Given the description of an element on the screen output the (x, y) to click on. 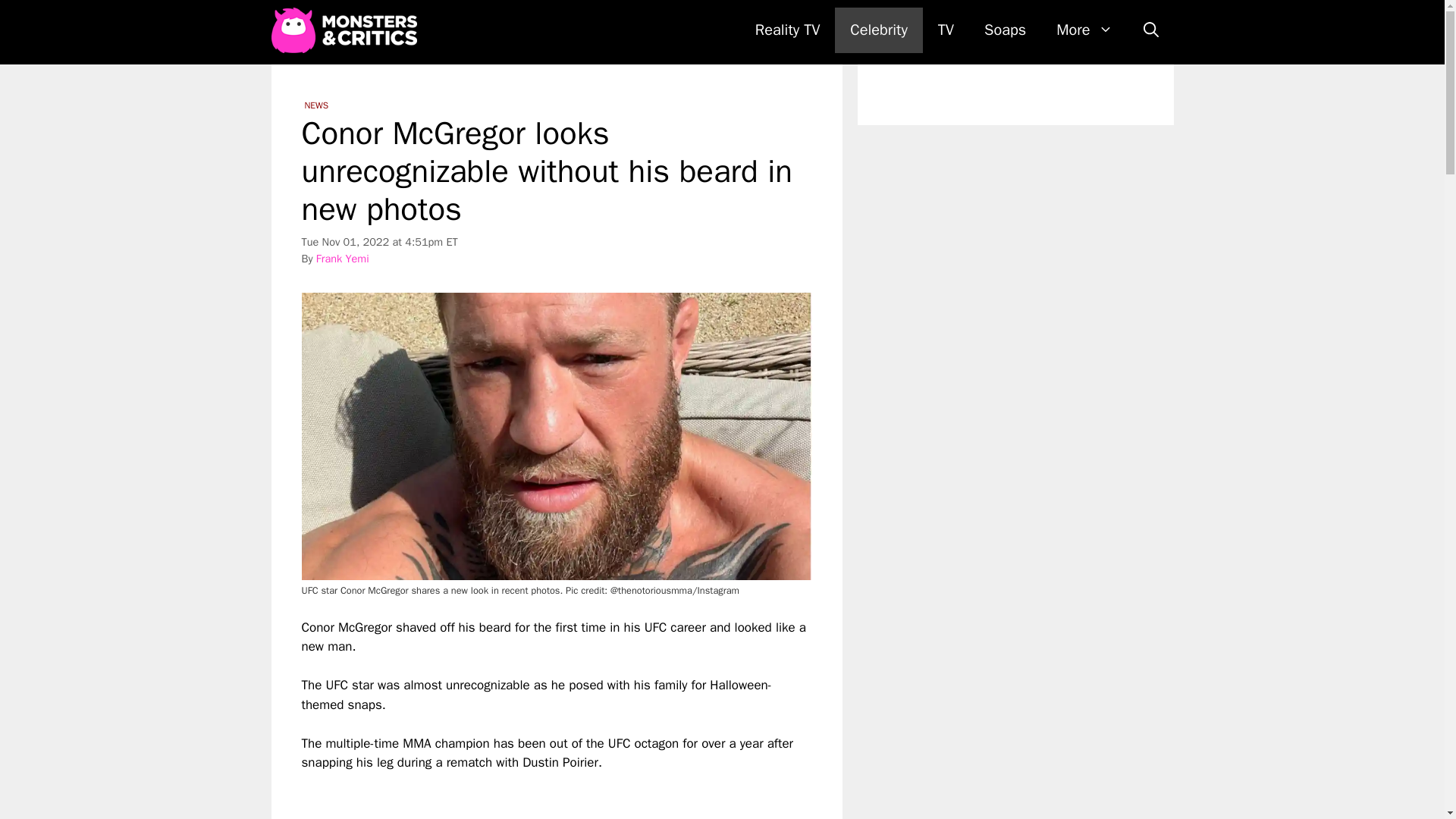
More (1083, 30)
Reality TV (787, 30)
TV (946, 30)
Celebrity (877, 30)
YouTube video player (513, 796)
Soaps (1005, 30)
Monsters and Critics (347, 30)
View all posts by Frank Yemi (342, 258)
Frank Yemi (342, 258)
Monsters and Critics (343, 30)
